Given the description of an element on the screen output the (x, y) to click on. 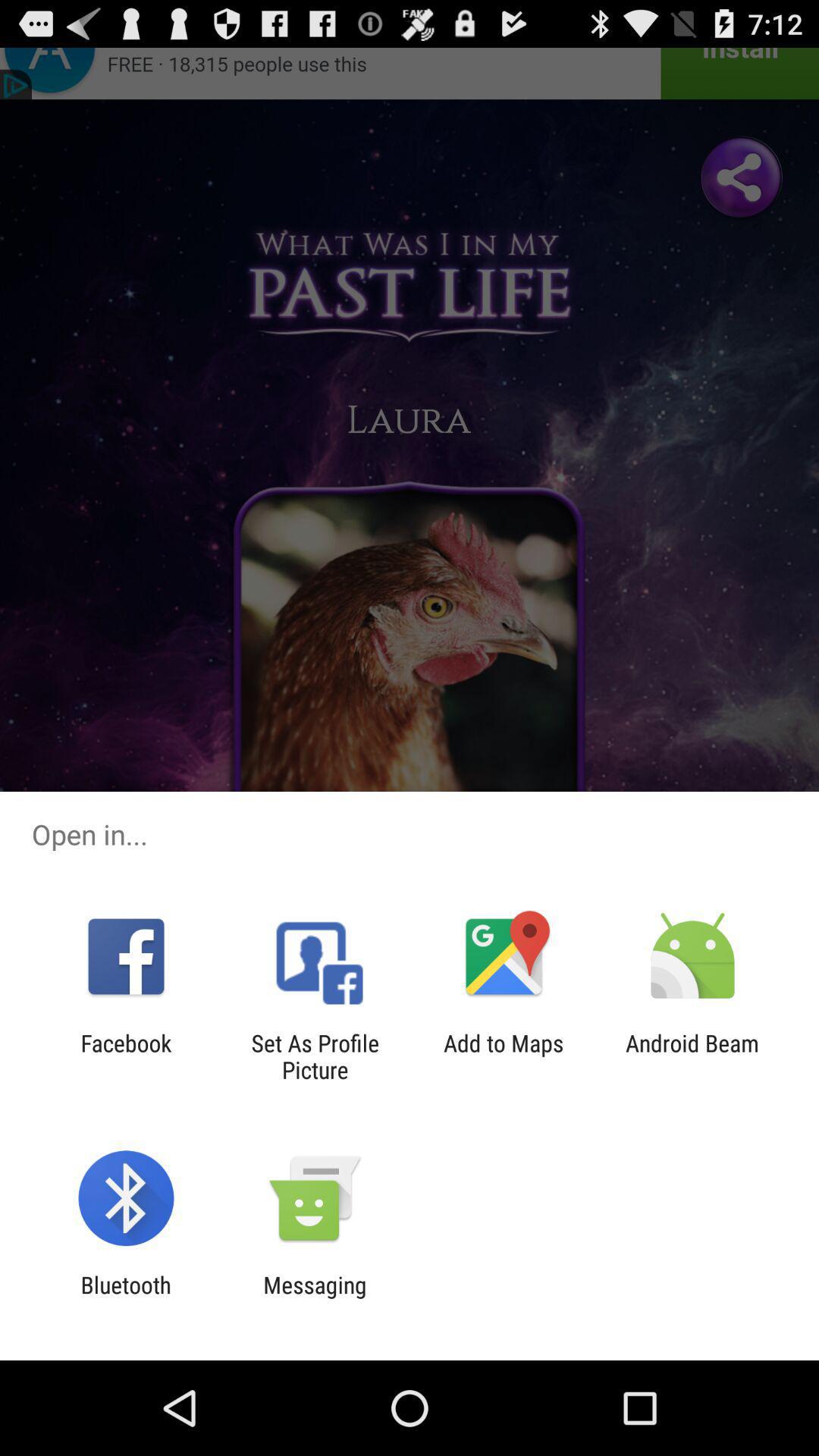
open item to the right of facebook item (314, 1056)
